Given the description of an element on the screen output the (x, y) to click on. 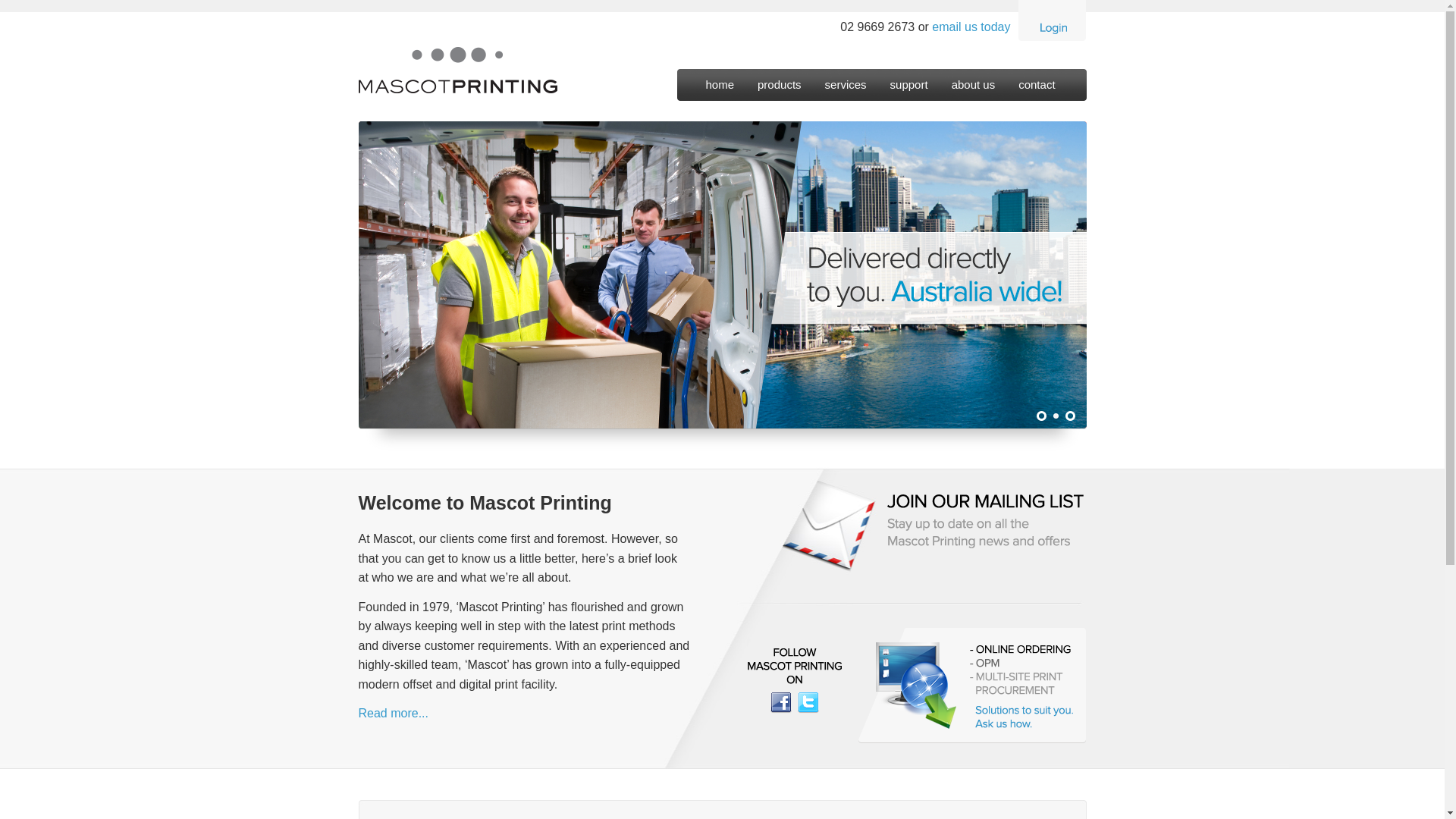
home Element type: text (731, 94)
email us today Element type: text (970, 26)
contact Element type: text (1048, 94)
Read more... Element type: text (392, 712)
services Element type: text (857, 94)
products Element type: text (791, 94)
2 Element type: hover (1055, 415)
1 Element type: hover (1040, 415)
about us Element type: text (985, 94)
Mascot Printing Element type: hover (721, 34)
support Element type: text (920, 94)
3 Element type: hover (1069, 415)
